Given the description of an element on the screen output the (x, y) to click on. 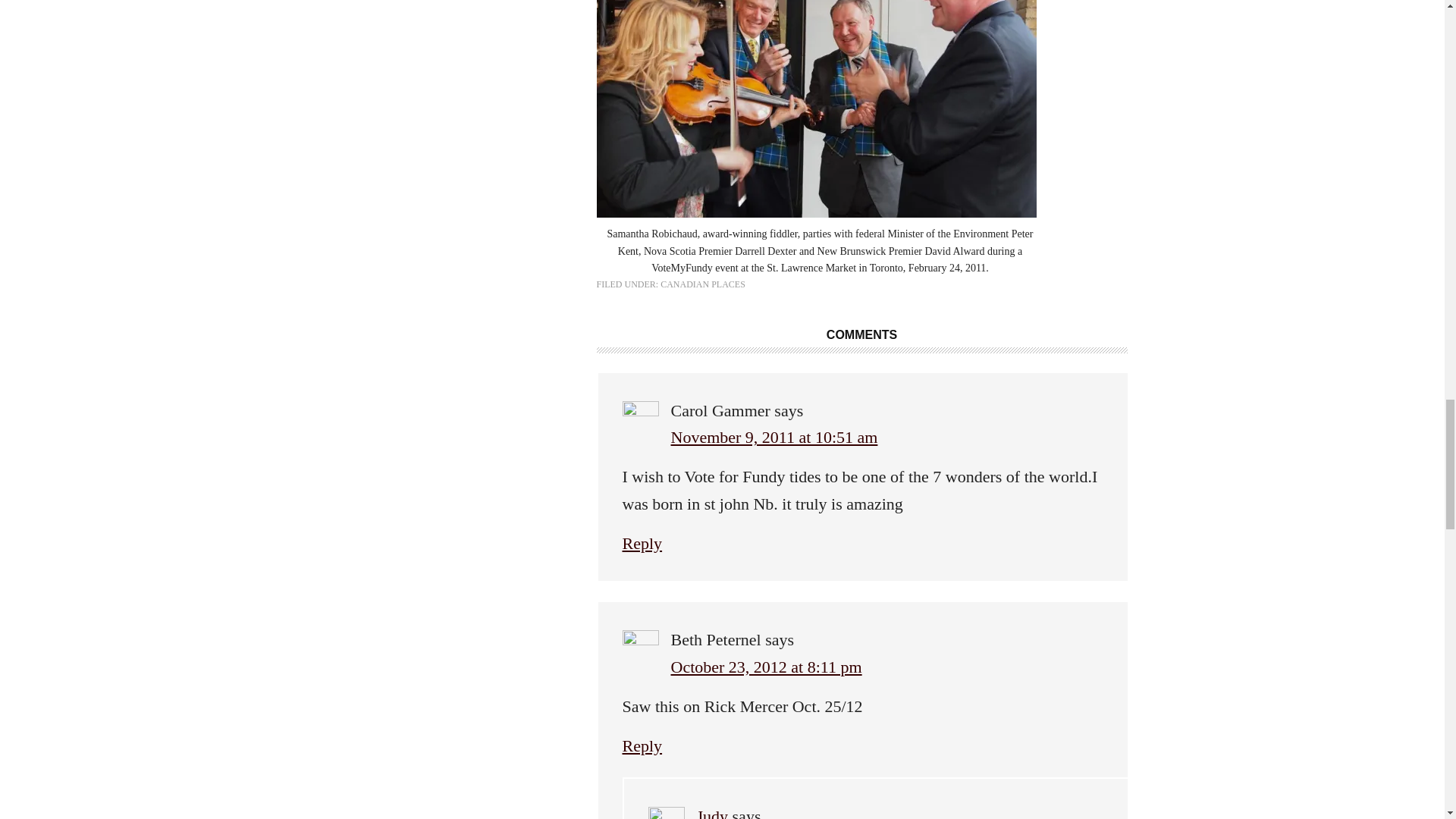
Reply (641, 745)
premiers-samantha-fiddle (815, 108)
Reply (641, 542)
Judy (711, 812)
November 9, 2011 at 10:51 am (773, 436)
October 23, 2012 at 8:11 pm (765, 666)
CANADIAN PLACES (703, 284)
